Given the description of an element on the screen output the (x, y) to click on. 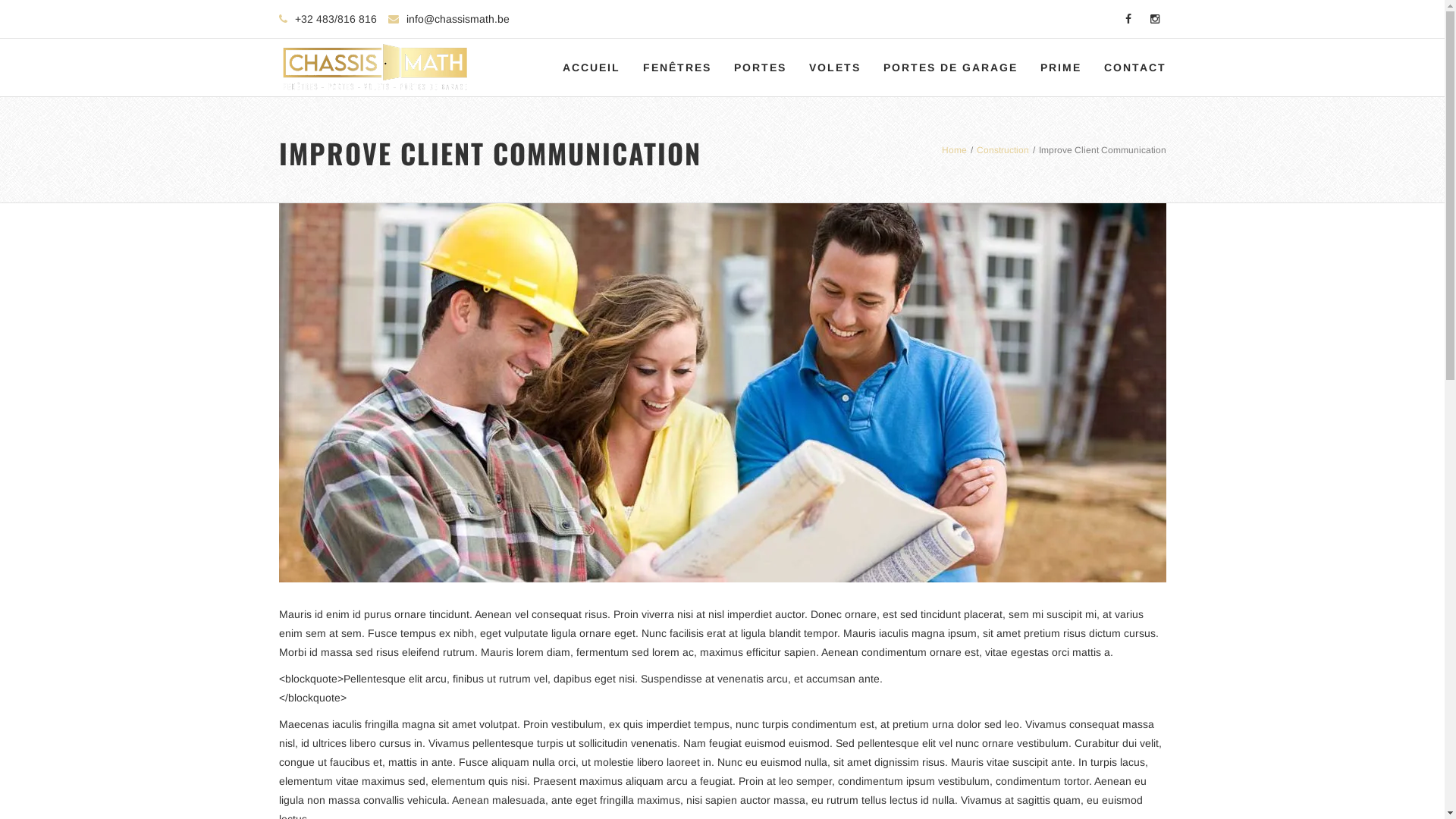
ACCUEIL Element type: text (590, 67)
info@chassismath.be Element type: text (457, 18)
Construction Element type: text (1002, 149)
PRIME Element type: text (1060, 67)
PORTES Element type: text (759, 67)
Home Element type: text (953, 149)
CONTACT Element type: text (1134, 67)
PORTES DE GARAGE Element type: text (950, 67)
VOLETS Element type: text (834, 67)
